Given the description of an element on the screen output the (x, y) to click on. 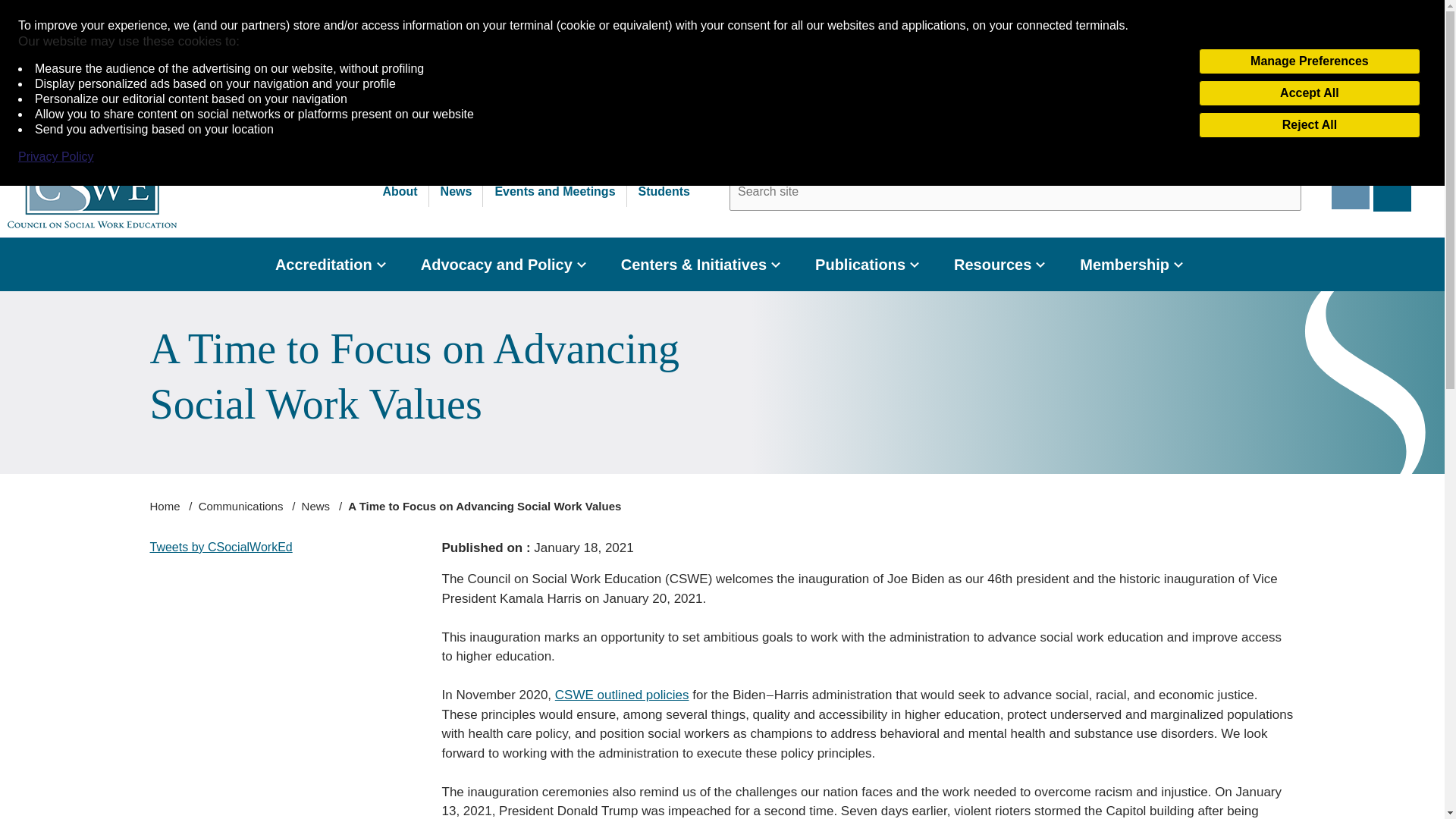
I agree (1368, 76)
MORE INFORMATION (1241, 76)
Privacy Policy (55, 156)
Events and Meetings (554, 191)
News (456, 191)
About (399, 191)
cookie policy (381, 113)
Accreditation (323, 264)
Close Cookie Consent (1428, 17)
Manage Preferences (1309, 61)
